Given the description of an element on the screen output the (x, y) to click on. 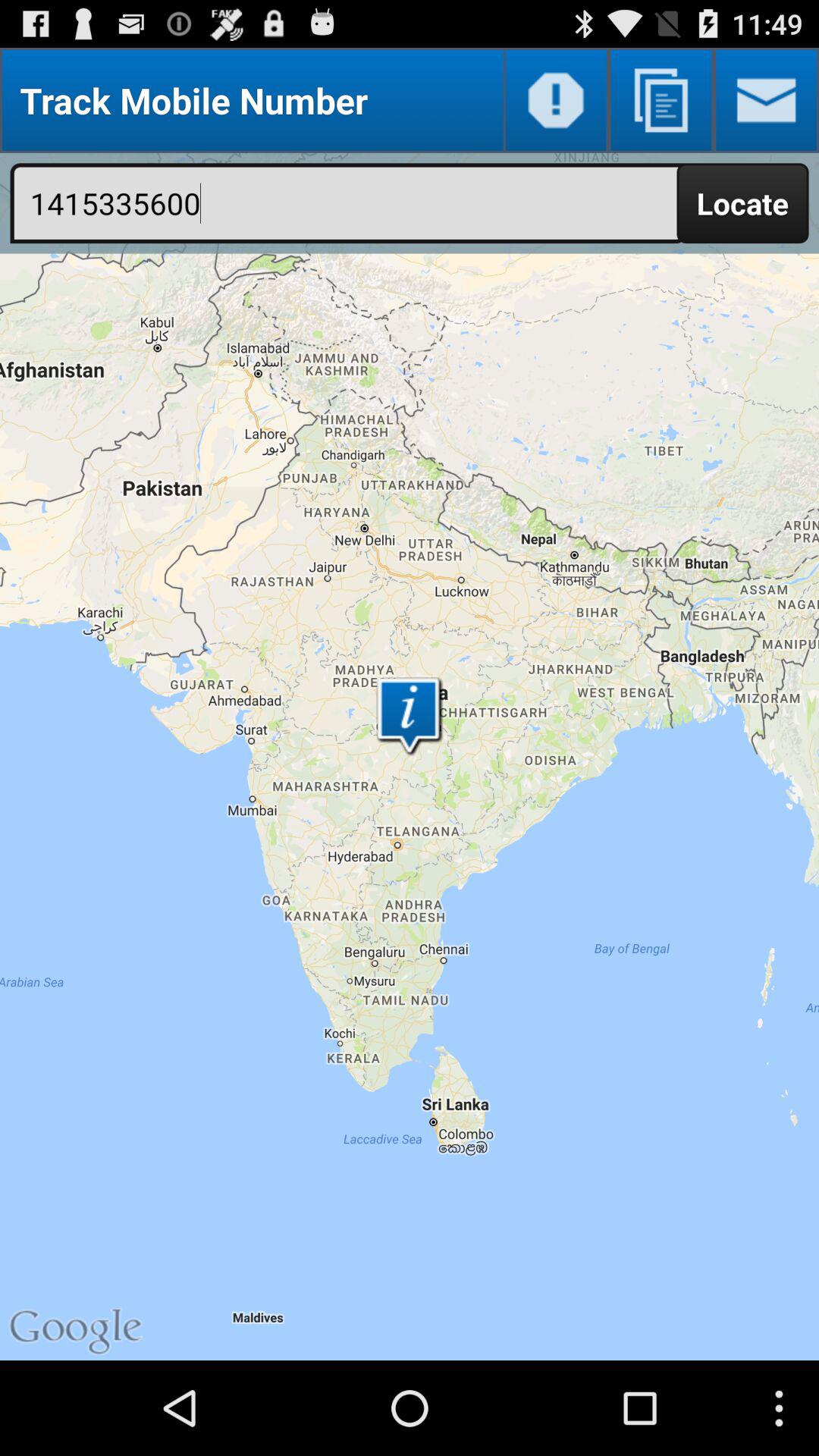
copy tool (660, 99)
